Given the description of an element on the screen output the (x, y) to click on. 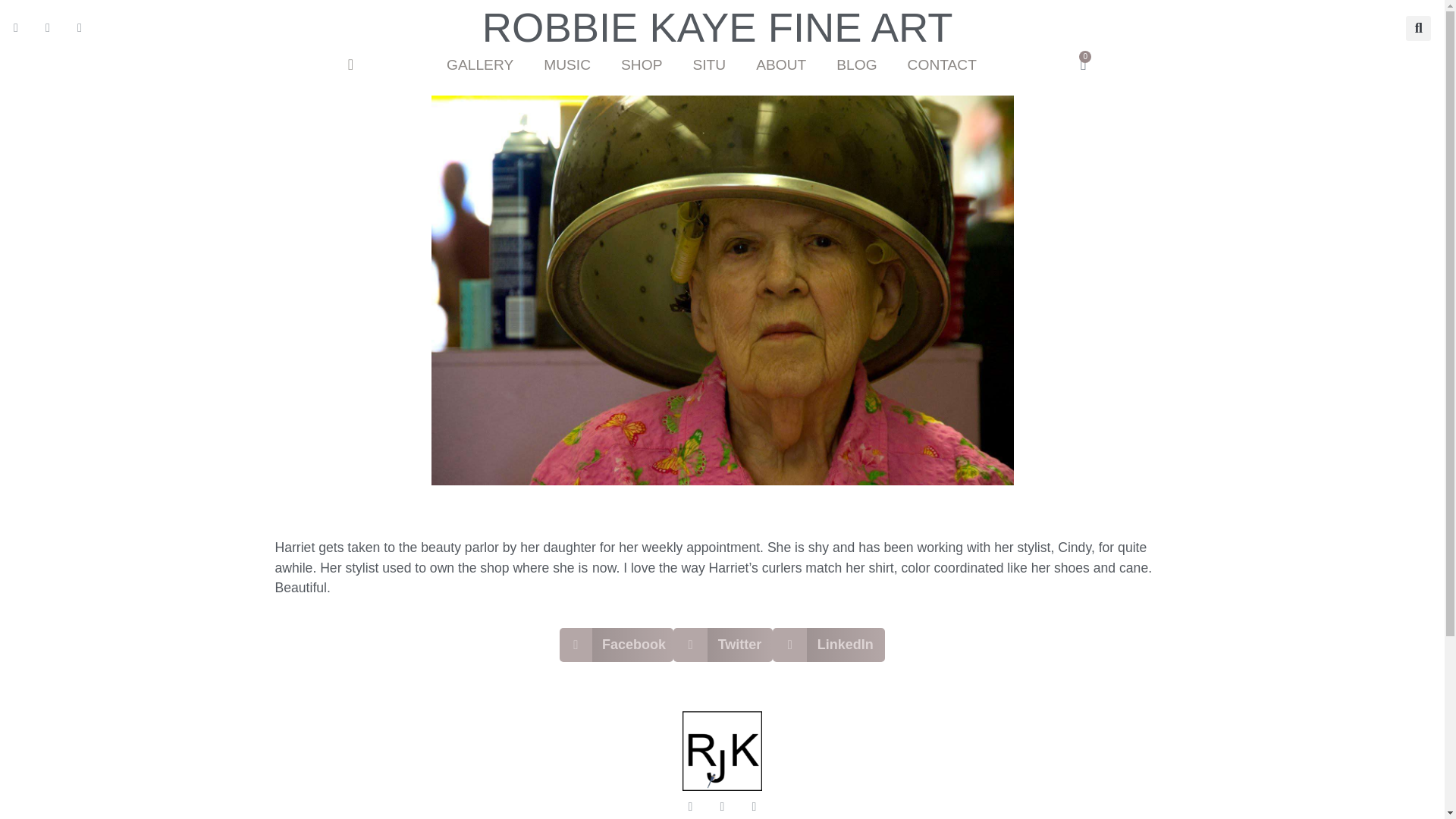
BLOG (856, 64)
MUSIC (566, 64)
SITU (709, 64)
ABOUT (781, 64)
SHOP (641, 64)
ROBBIE KAYE FINE ART (717, 27)
CONTACT (941, 64)
GALLERY (479, 64)
